Given the description of an element on the screen output the (x, y) to click on. 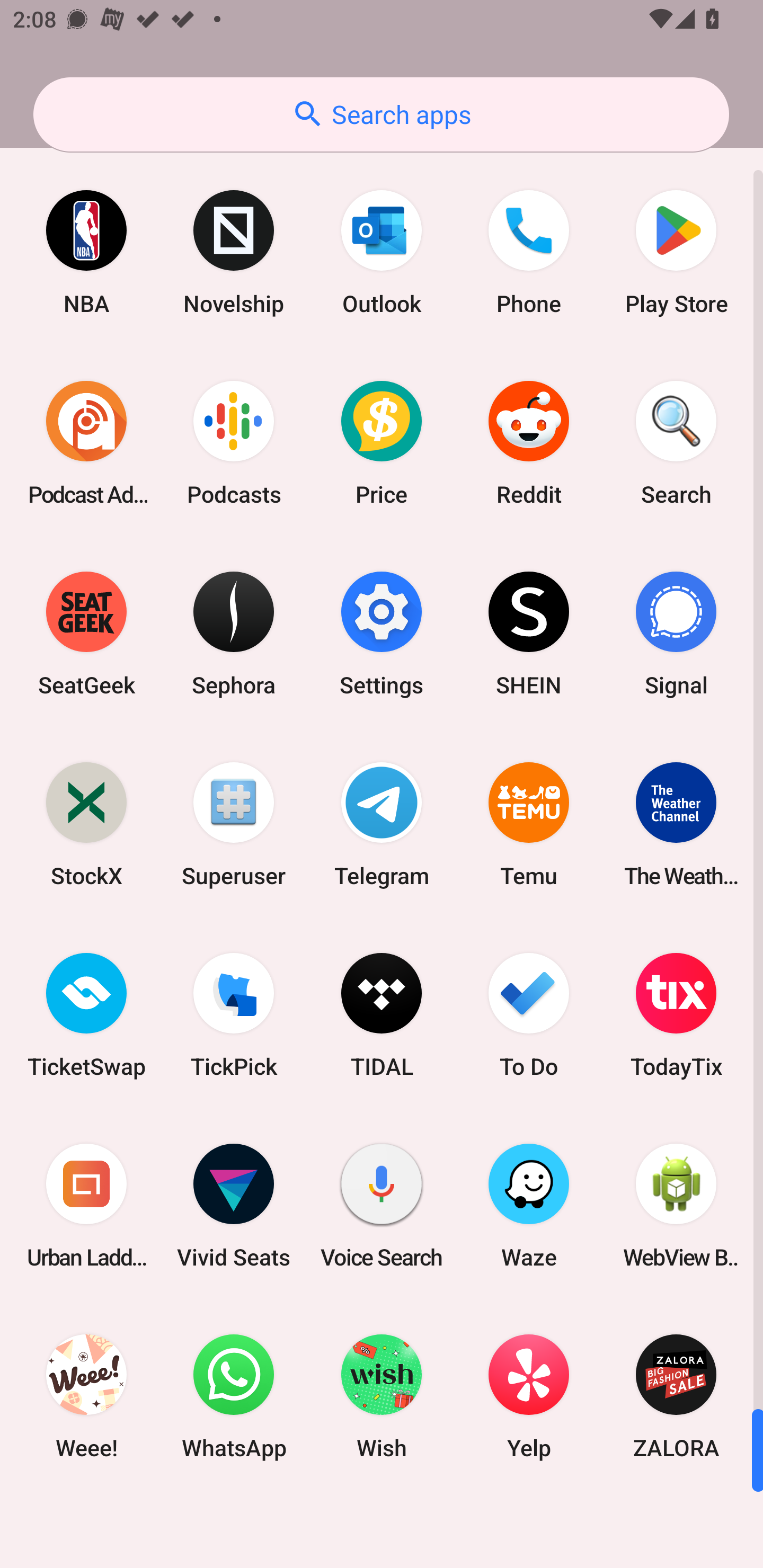
Signal (676, 633)
